Given the description of an element on the screen output the (x, y) to click on. 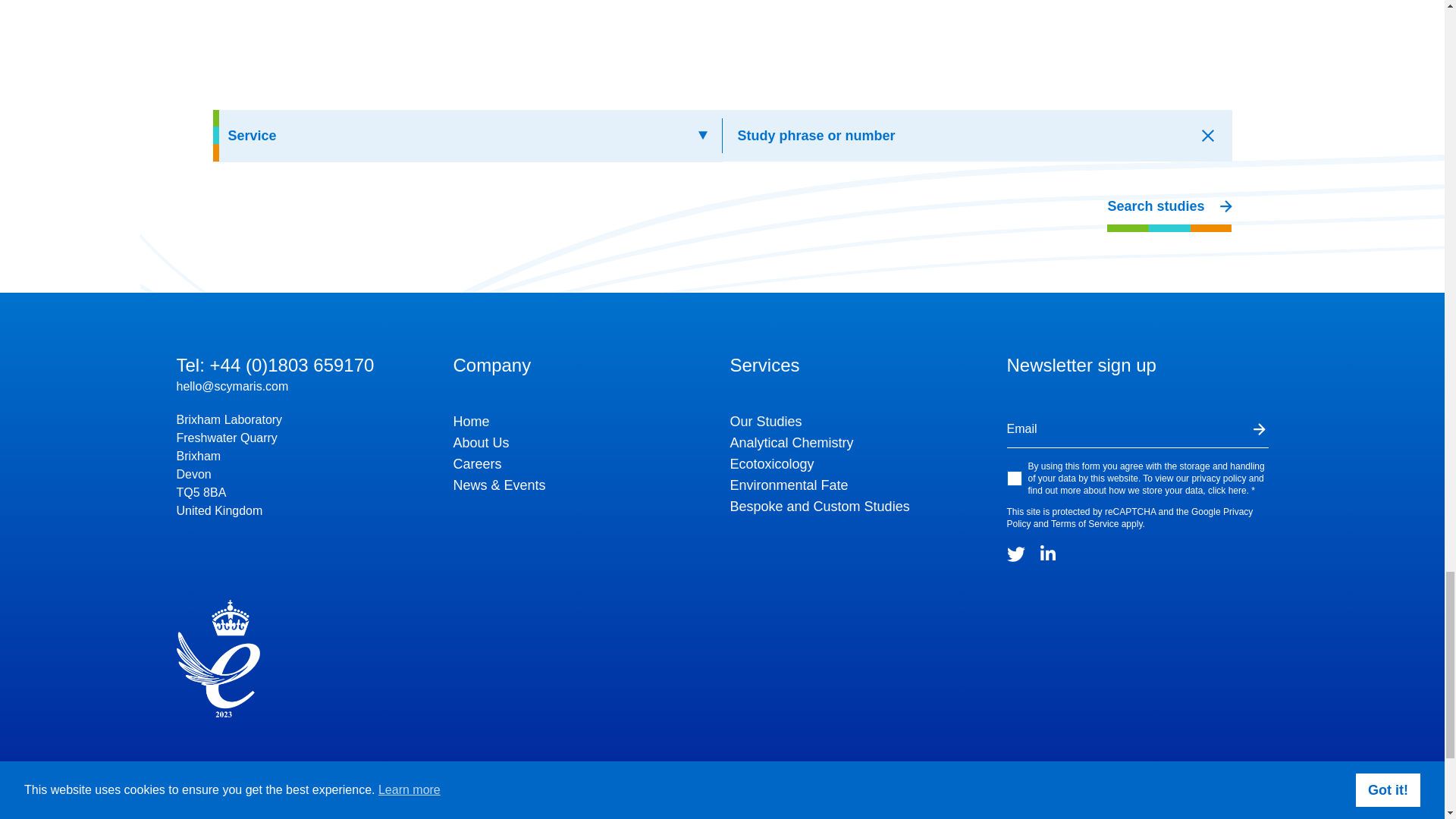
consent (1014, 478)
